Given the description of an element on the screen output the (x, y) to click on. 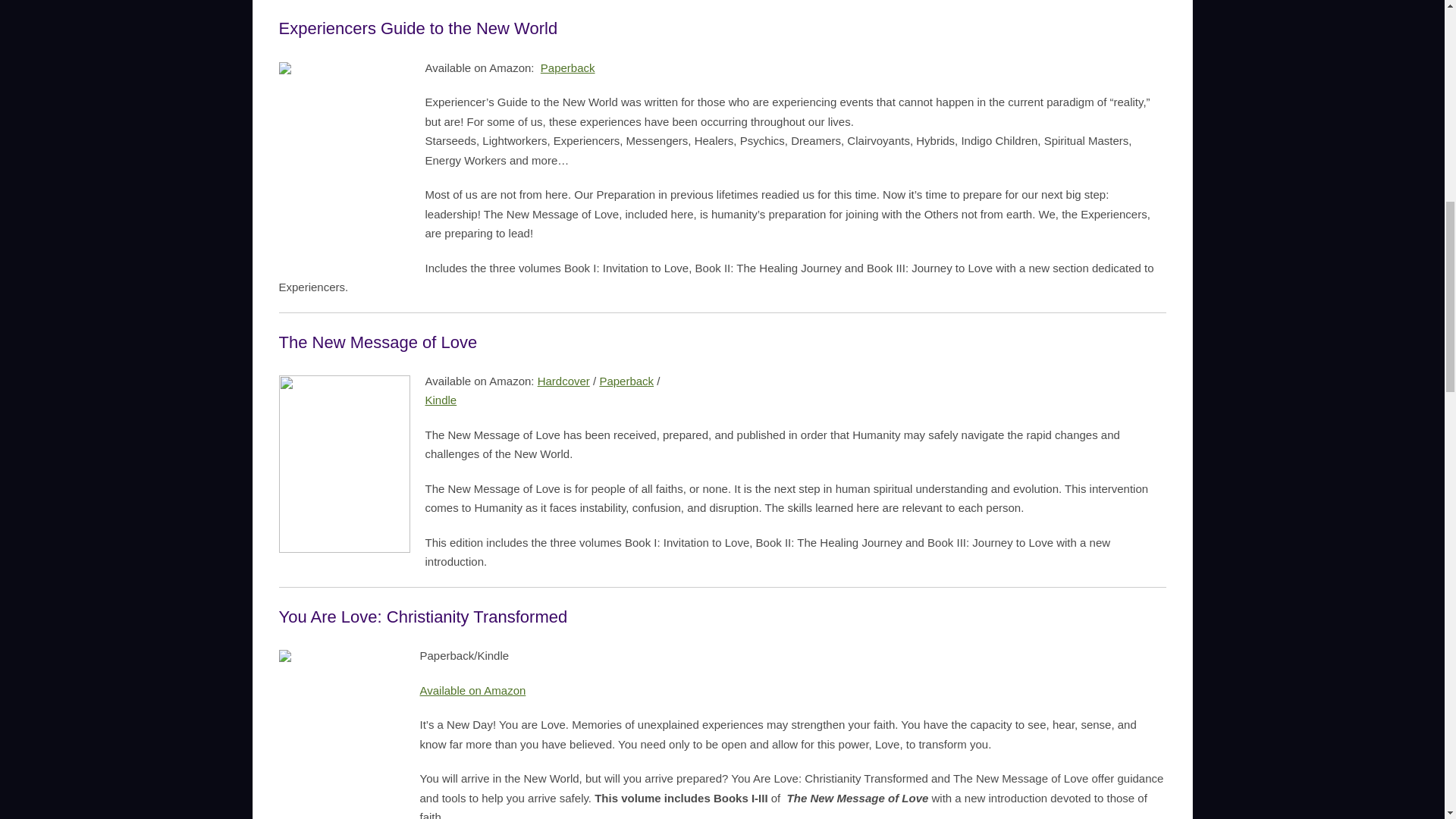
Paperback (625, 380)
Paperback (567, 67)
Available on Amazon (472, 689)
Hardcover (563, 380)
Kindle (542, 409)
